Given the description of an element on the screen output the (x, y) to click on. 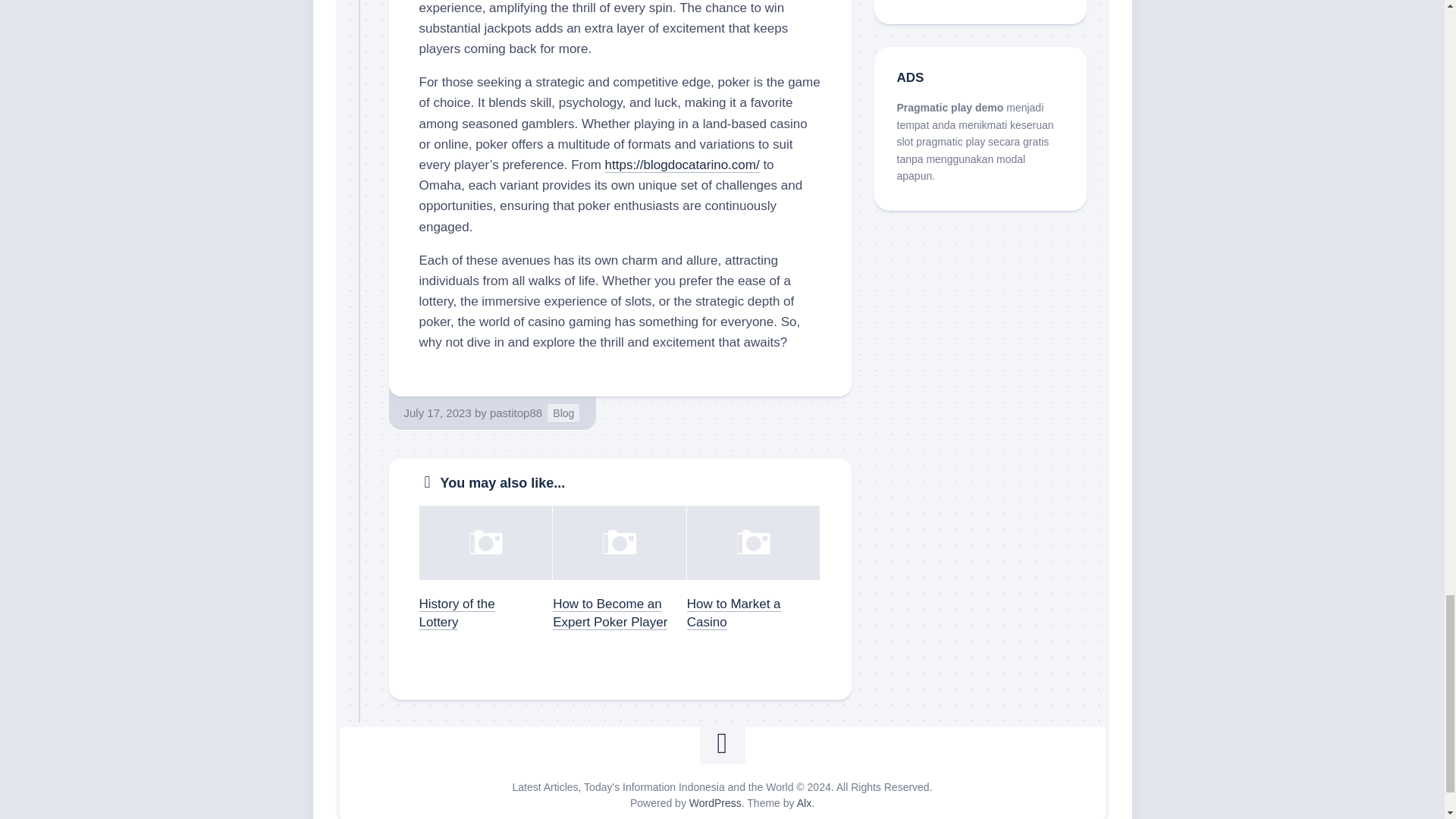
How to Market a Casino (733, 613)
Blog (563, 413)
History of the Lottery (457, 613)
How to Become an Expert Poker Player (609, 613)
Posts by pastitop88 (515, 412)
pastitop88 (515, 412)
